Given the description of an element on the screen output the (x, y) to click on. 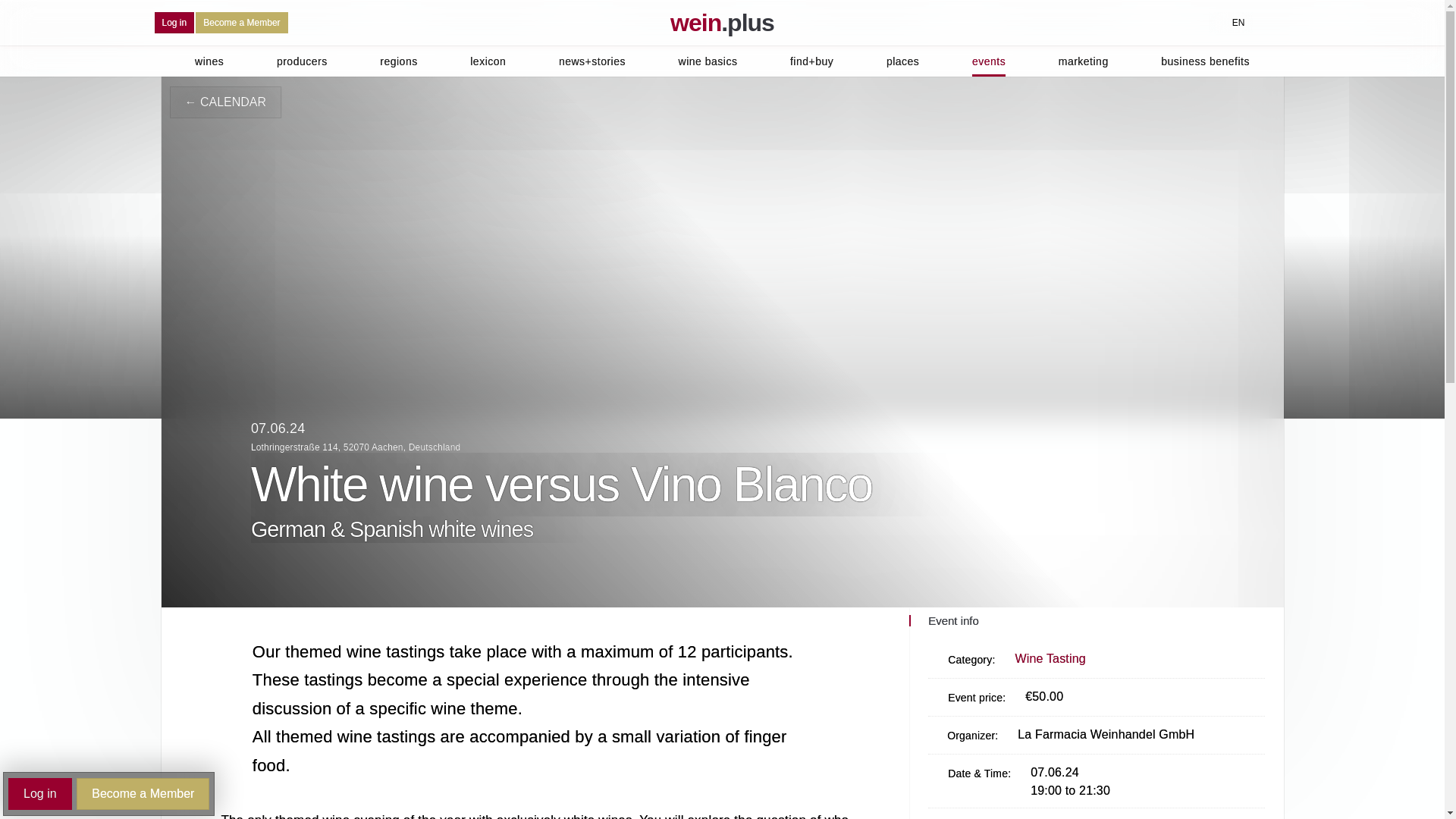
lexicon (487, 60)
business benefits (1204, 60)
Become a Member (240, 22)
Log in (174, 22)
producers (301, 60)
regions (398, 60)
English Language (1237, 22)
wein.plus (721, 22)
Log in (174, 22)
EN (1230, 22)
